Given the description of an element on the screen output the (x, y) to click on. 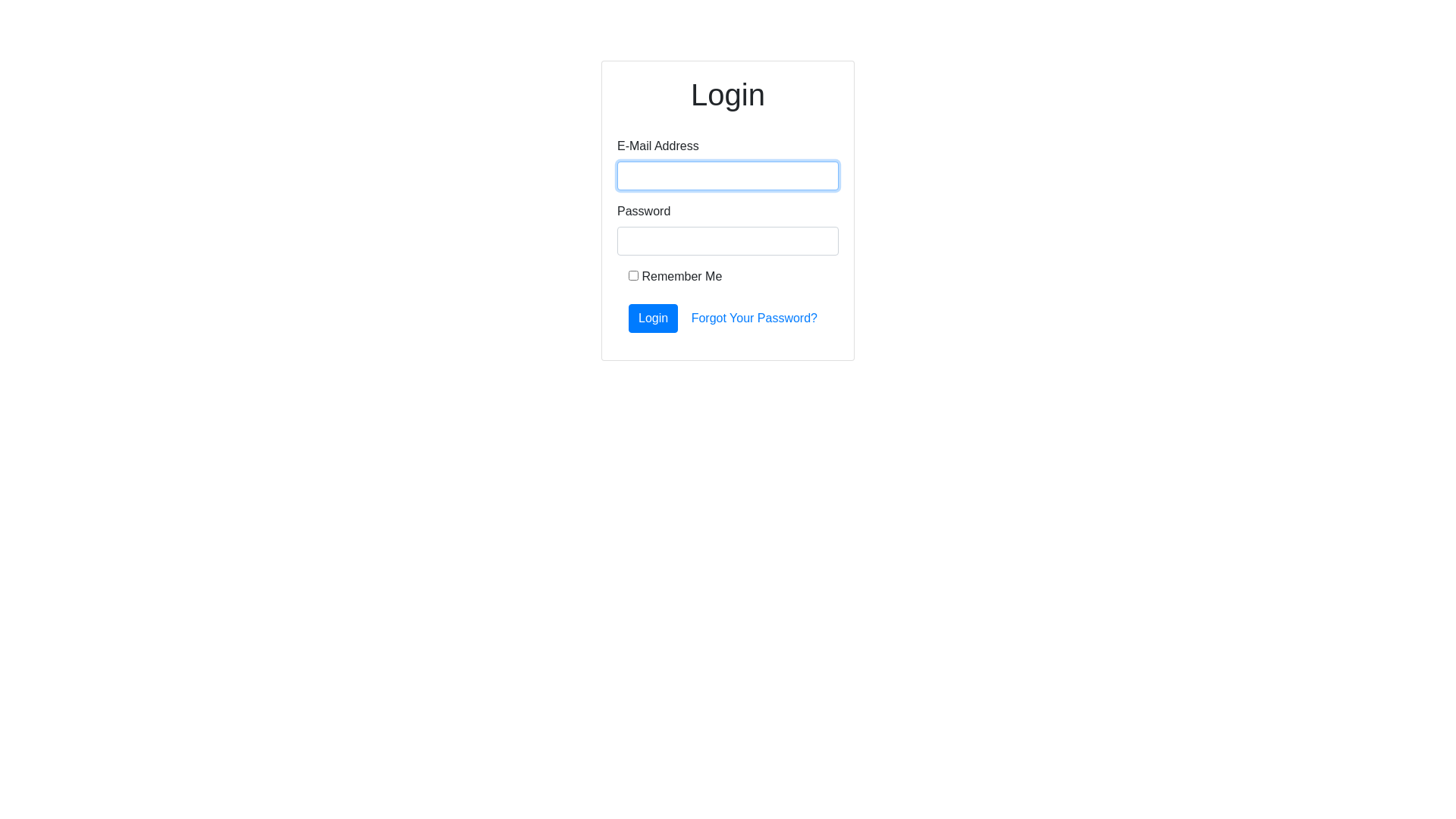
Forgot Your Password? Element type: text (754, 318)
Login Element type: text (652, 318)
